Given the description of an element on the screen output the (x, y) to click on. 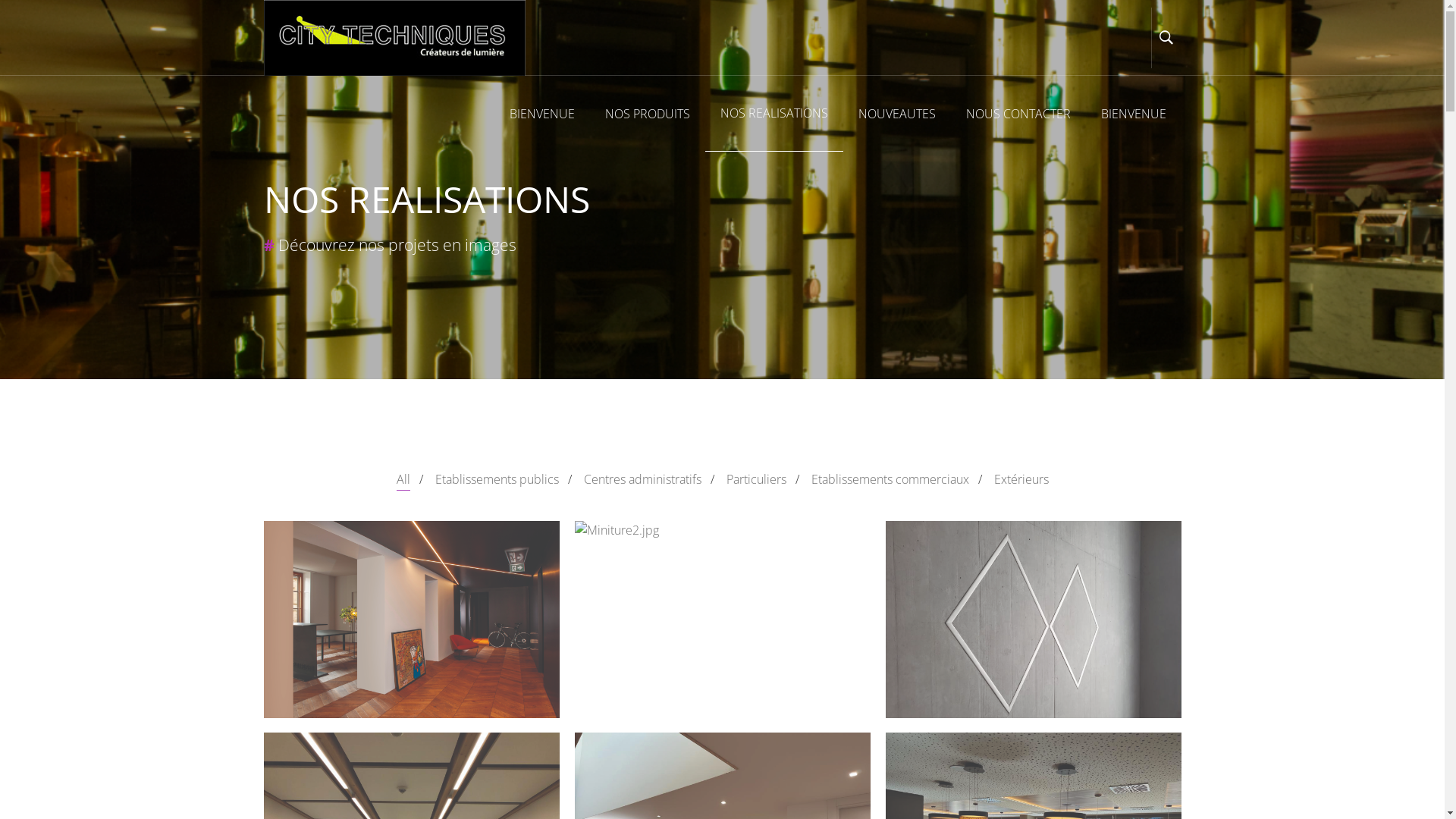
BIENVENUE Element type: text (1133, 113)
Search Element type: text (1147, 174)
NOUVEAUTES Element type: text (896, 113)
BIENVENUE Element type: text (541, 113)
NOS REALISATIONS Element type: text (774, 113)
NOS PRODUITS Element type: text (647, 113)
NOUS CONTACTER Element type: text (1017, 113)
